Given the description of an element on the screen output the (x, y) to click on. 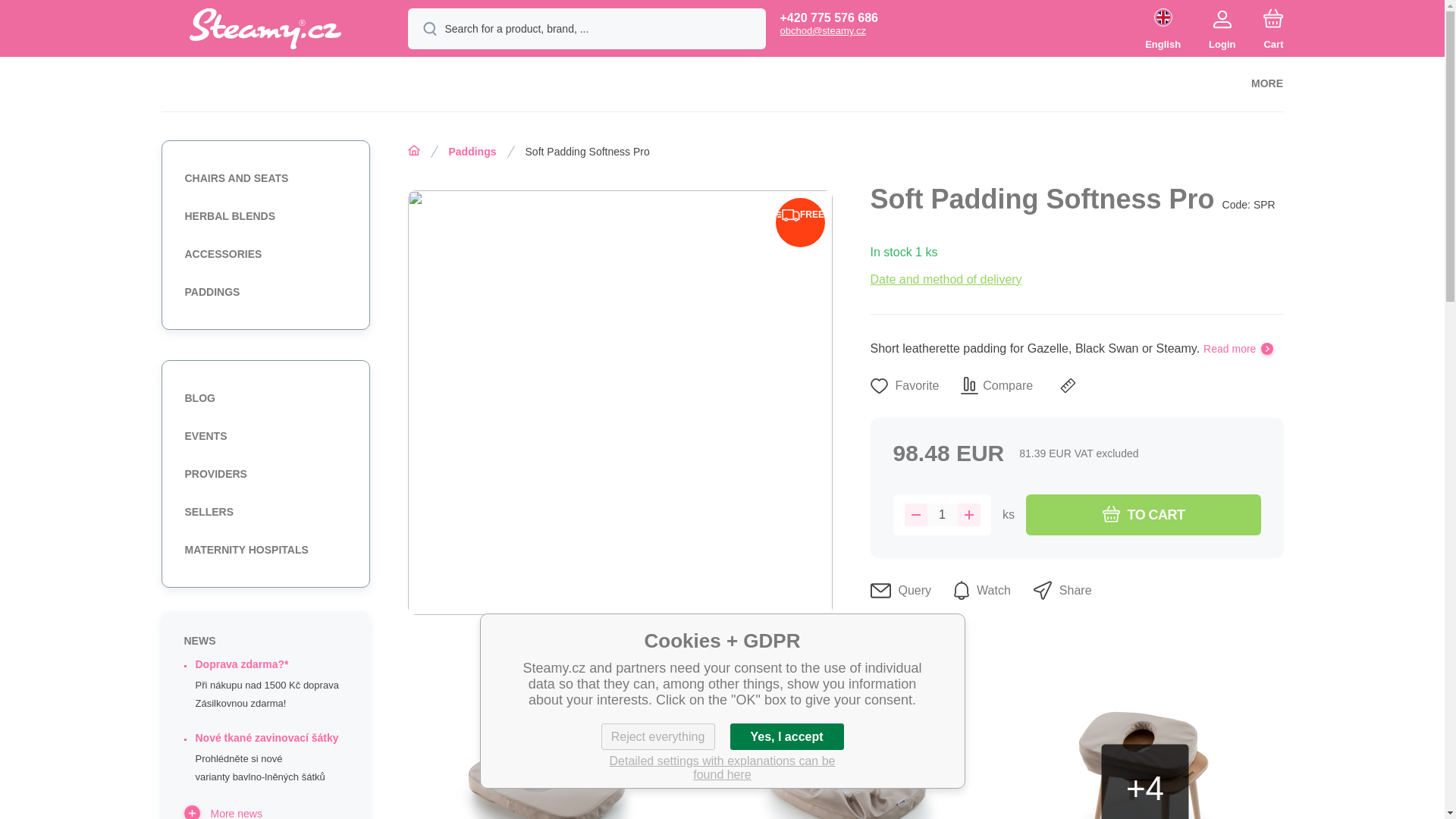
SELLERS (261, 511)
EVENTS (261, 435)
Soft Padding Softness Pro (572, 150)
Steamy.cz (264, 28)
Steamy.cz (264, 31)
Favorite (904, 384)
MATERNITY HOSPITALS (261, 549)
Paddings (458, 150)
MORE (1266, 82)
BLOG (261, 398)
Compare (996, 384)
Add to Favourites (904, 384)
CHAIRS AND SEATS (261, 177)
PROVIDERS (261, 473)
PADDINGS (261, 291)
